Given the description of an element on the screen output the (x, y) to click on. 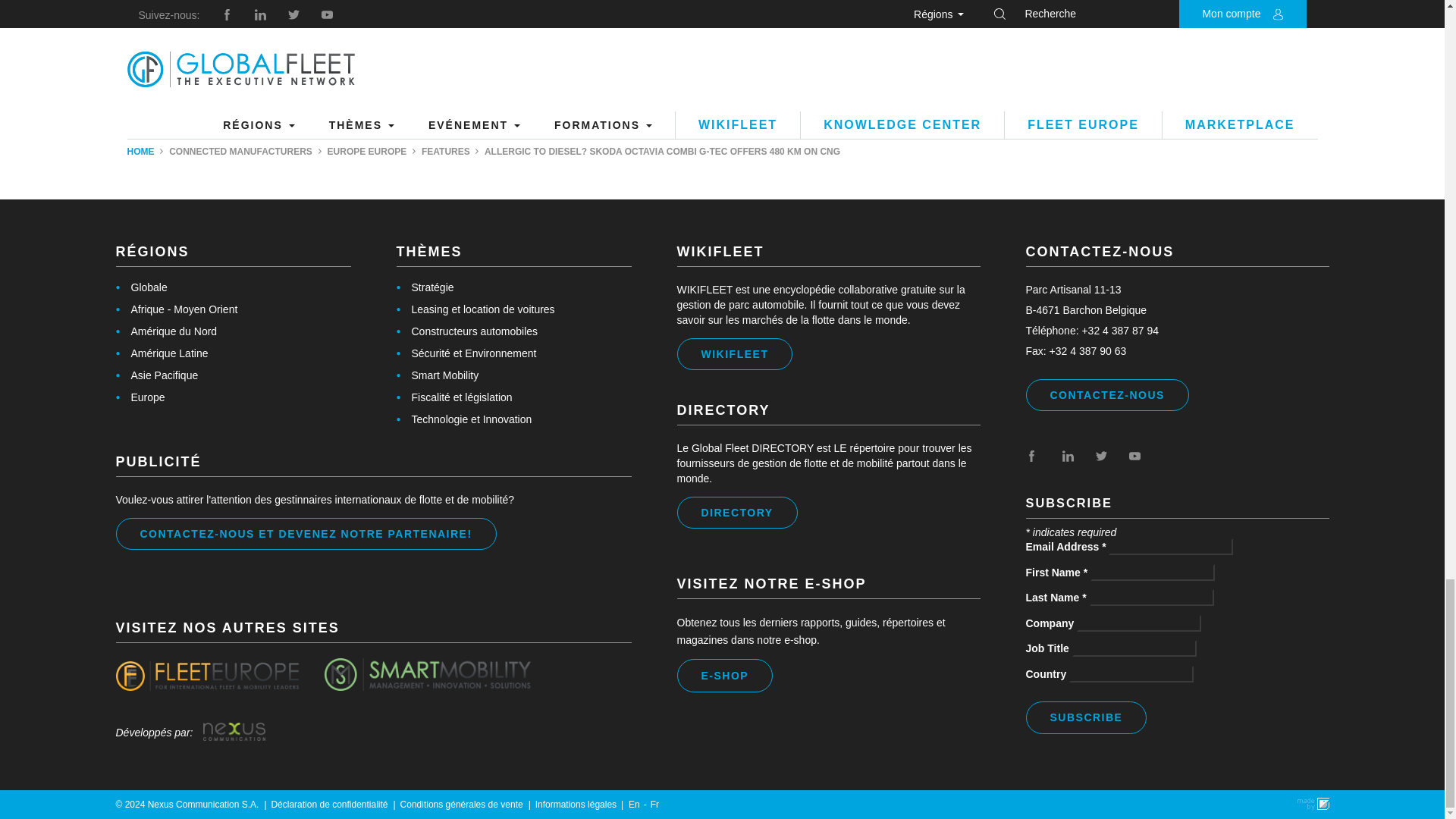
Fleeteurope logo (139, 397)
Fleeteurope logo (206, 675)
Smartmobility logo (206, 686)
Subscribe (427, 674)
Nexus logo (1086, 717)
Contact globalfleet (233, 732)
Nexus logo (1106, 395)
